Given the description of an element on the screen output the (x, y) to click on. 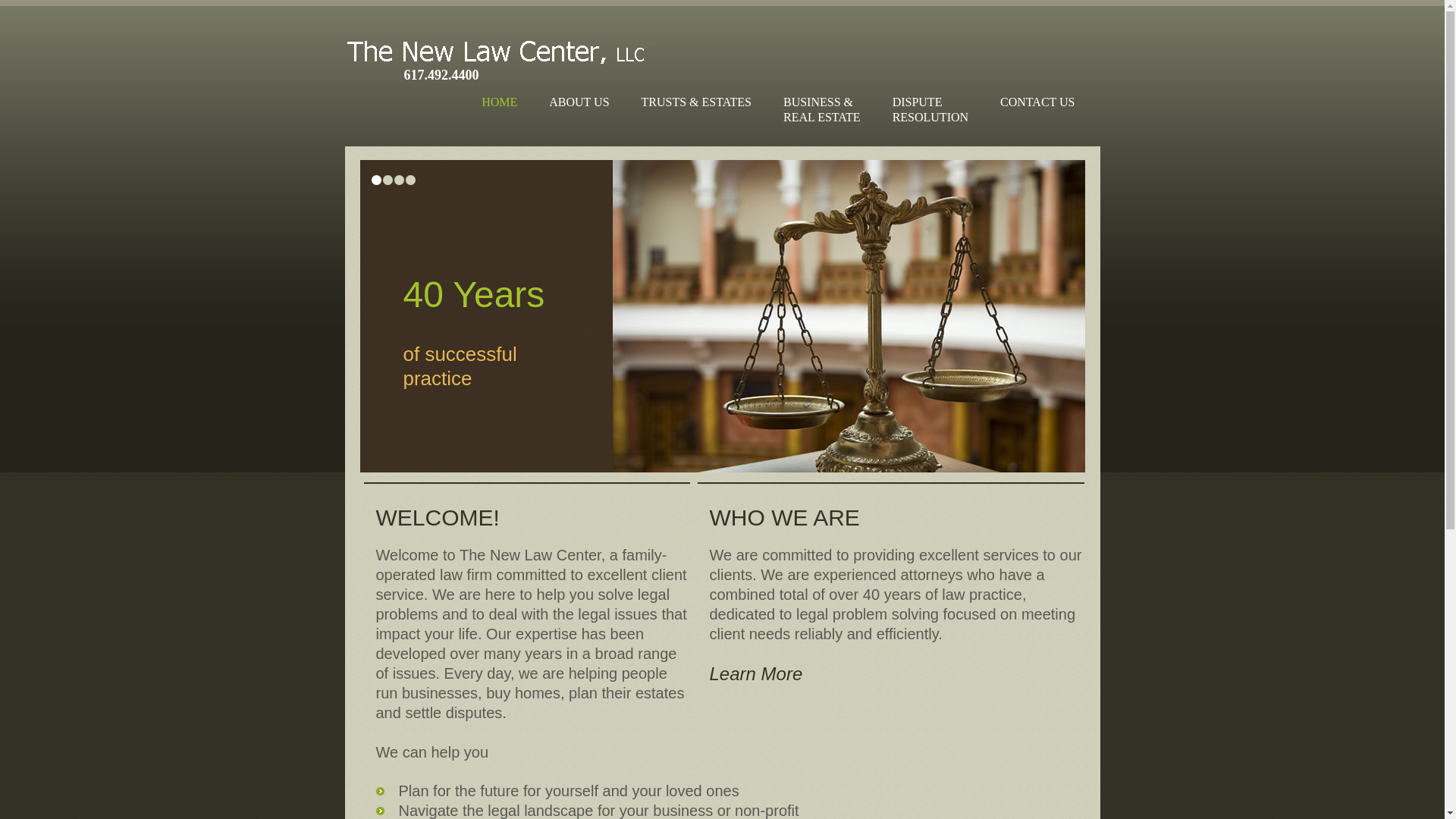
4 (930, 109)
CONTACT US (409, 180)
3 (1037, 101)
Learn More (399, 180)
HOME (756, 673)
2 (498, 101)
1 (386, 180)
ABOUT US (376, 180)
